Given the description of an element on the screen output the (x, y) to click on. 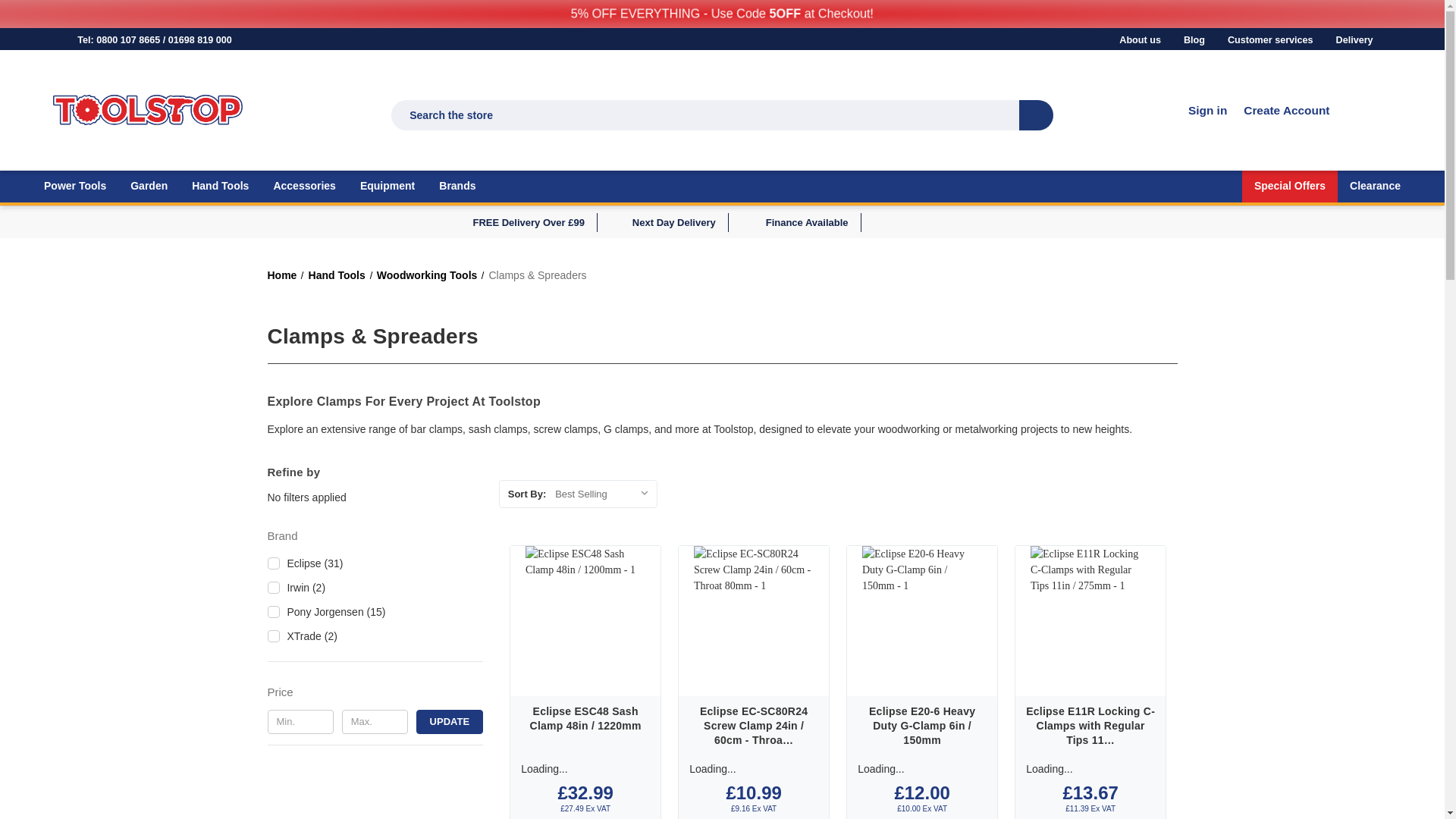
Customer services (1270, 40)
Blog (1194, 40)
About us (1139, 40)
Delivery (1354, 40)
Power Tools (74, 188)
Sign in (1207, 109)
Toolstop (147, 110)
01698 819 000 (199, 40)
Create Account (1286, 109)
Excluding Tax (1102, 808)
